Given the description of an element on the screen output the (x, y) to click on. 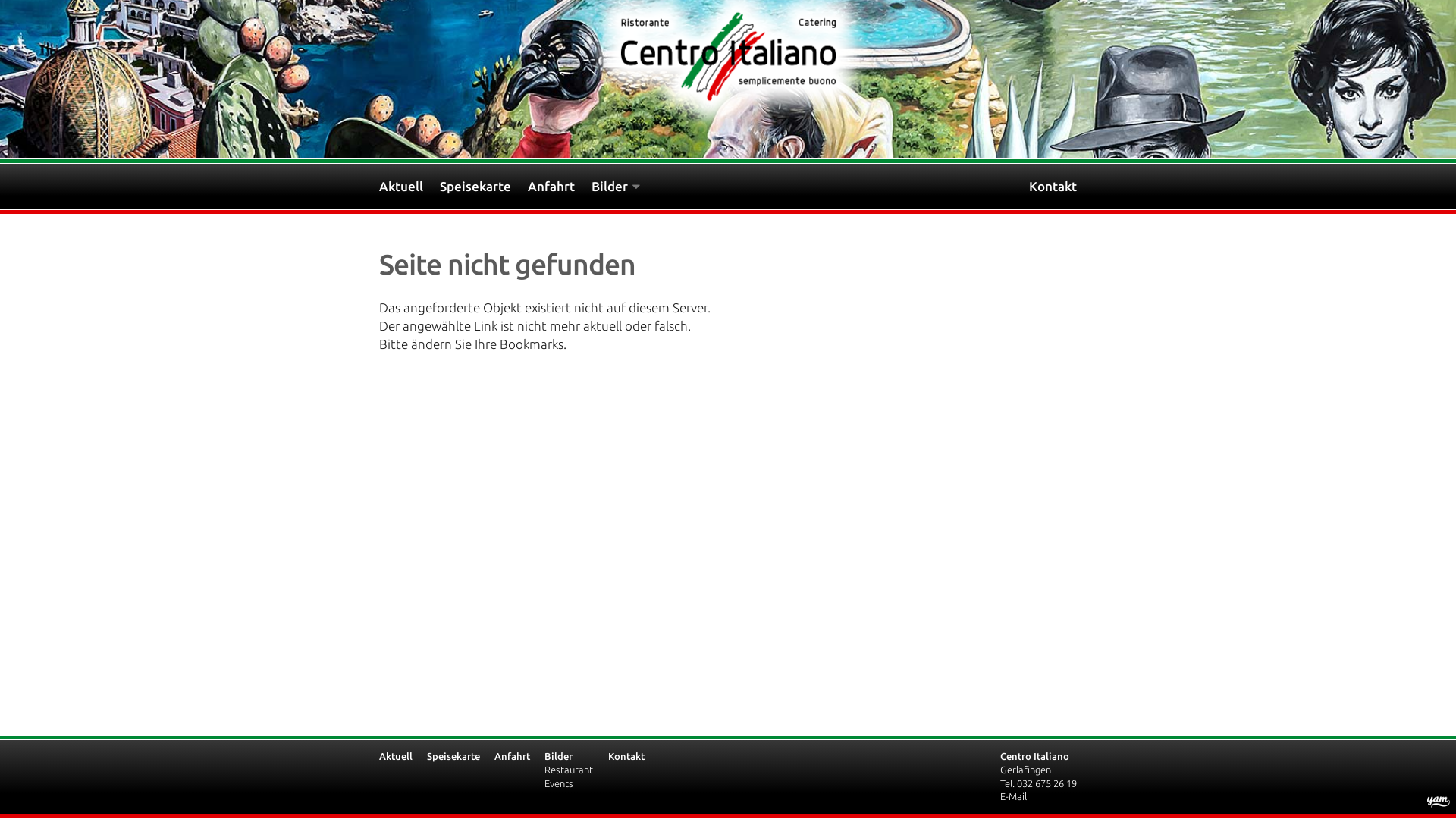
Kontakt Element type: text (1052, 186)
developed by yam Element type: hover (1438, 801)
Aktuell Element type: text (409, 186)
Speisekarte Element type: text (483, 186)
Bilder Element type: text (623, 186)
Anfahrt Element type: text (512, 755)
Restaurant Element type: text (568, 769)
Bilder Element type: text (558, 755)
Anfahrt Element type: text (559, 186)
Speisekarte Element type: text (453, 755)
Events Element type: text (558, 783)
Aktuell Element type: text (395, 755)
Kontakt Element type: text (626, 755)
E-Mail Element type: text (1013, 795)
